Given the description of an element on the screen output the (x, y) to click on. 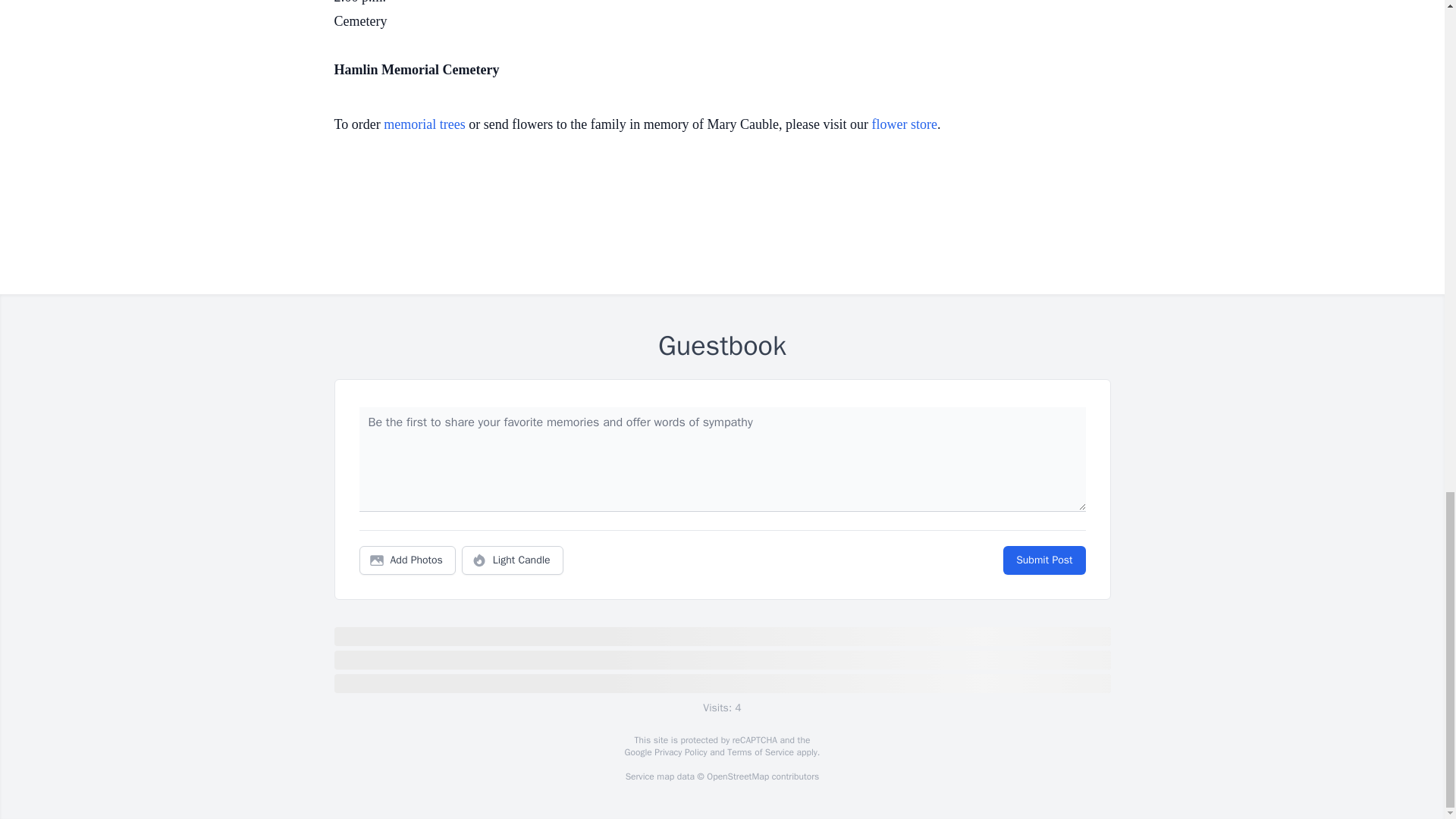
flower store (904, 124)
Add Photos (407, 560)
Privacy Policy (679, 752)
memorial trees (424, 124)
Terms of Service (759, 752)
OpenStreetMap (737, 776)
Light Candle (512, 560)
Submit Post (1043, 560)
